Given the description of an element on the screen output the (x, y) to click on. 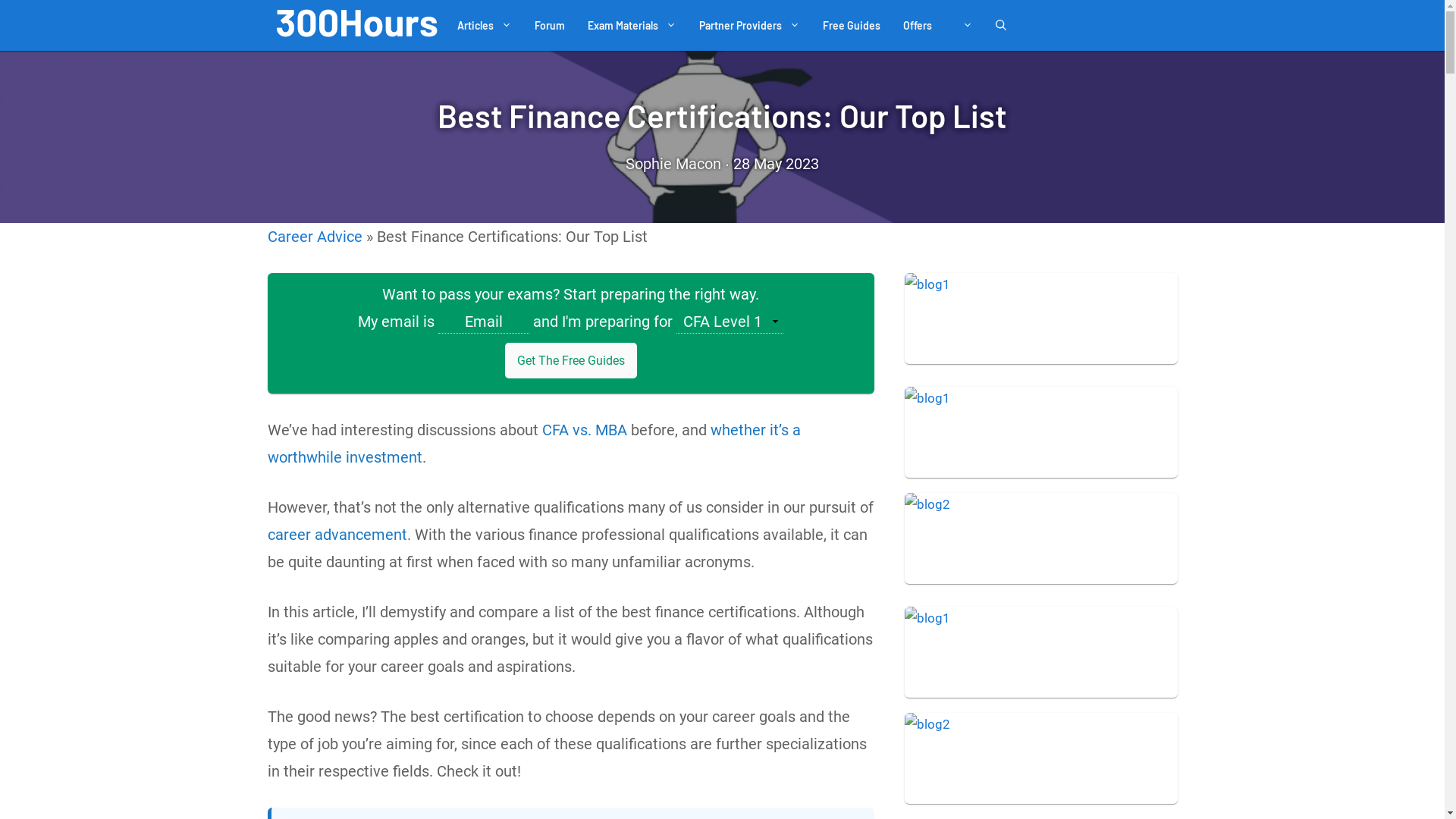
300Hours Element type: hover (355, 22)
Get The Free Guides Element type: text (571, 360)
Career Advice Element type: text (313, 236)
Partner Providers Element type: text (748, 25)
Sophie Macon Element type: text (673, 163)
Offers Element type: text (917, 25)
Free Guides Element type: text (851, 25)
Exam Materials Element type: text (631, 25)
Forum Element type: text (549, 25)
career advancement Element type: text (336, 534)
Finance Certifications Hub For CFA, FRM & CAIA - 300Hours Element type: hover (355, 25)
Articles Element type: text (484, 25)
CFA vs. MBA Element type: text (583, 429)
